Given the description of an element on the screen output the (x, y) to click on. 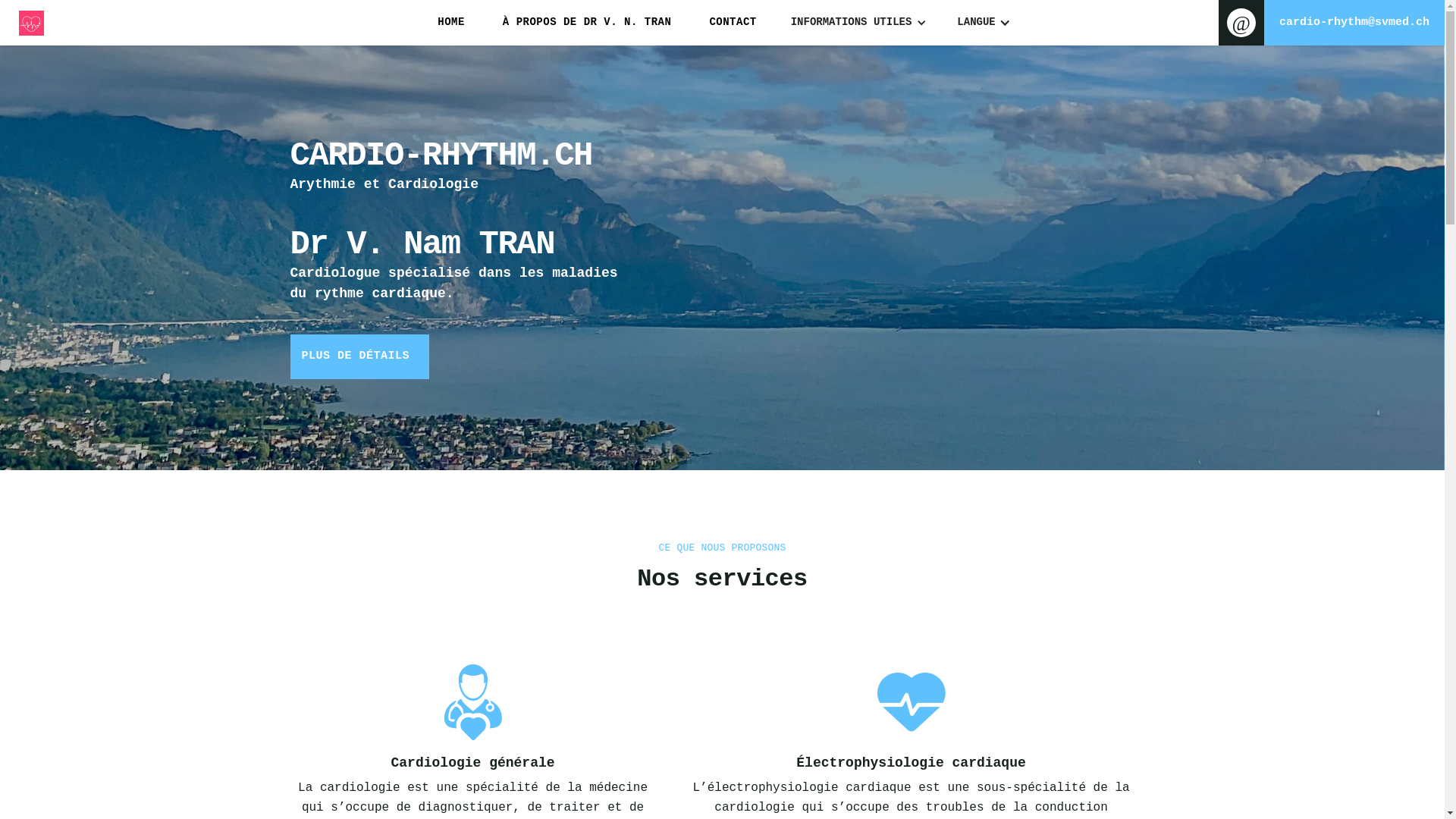
HOME Element type: text (450, 22)
CONTACT Element type: text (732, 22)
HOME Element type: text (490, 22)
cardio-rhythm@svmed.ch Element type: text (1331, 22)
ABOUT DR V. N. TRAN Element type: text (606, 22)
CONTACT Element type: text (731, 22)
